Given the description of an element on the screen output the (x, y) to click on. 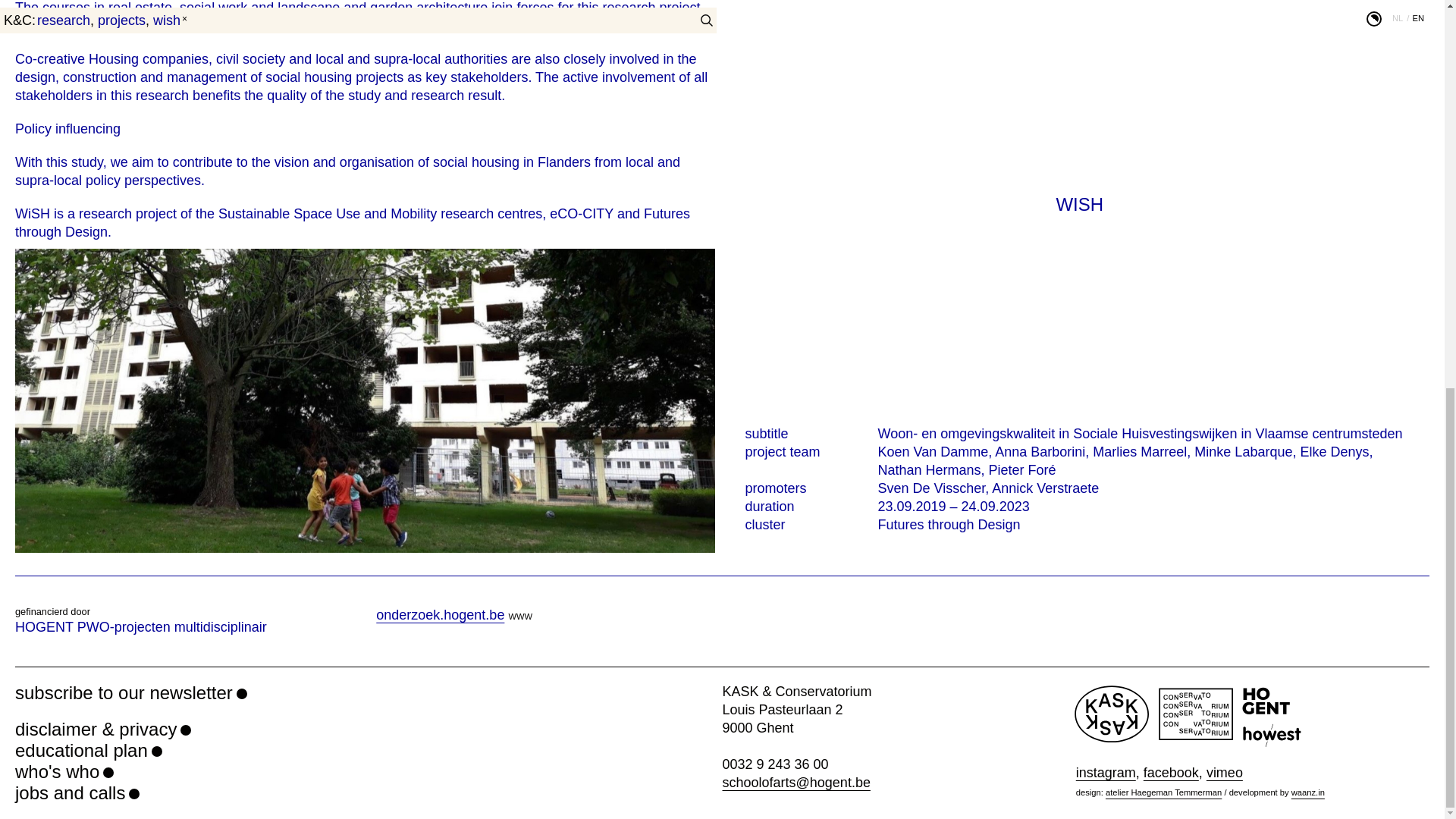
instagram (1105, 772)
jobs and calls (76, 792)
educational plan (87, 750)
vimeo (1225, 772)
facebook (1170, 772)
subscribe to our newsletter (130, 692)
onderzoek.hogent.be (439, 614)
waanz.in (1307, 792)
who's who (63, 771)
atelier Haegeman Temmerman (1163, 792)
